Given the description of an element on the screen output the (x, y) to click on. 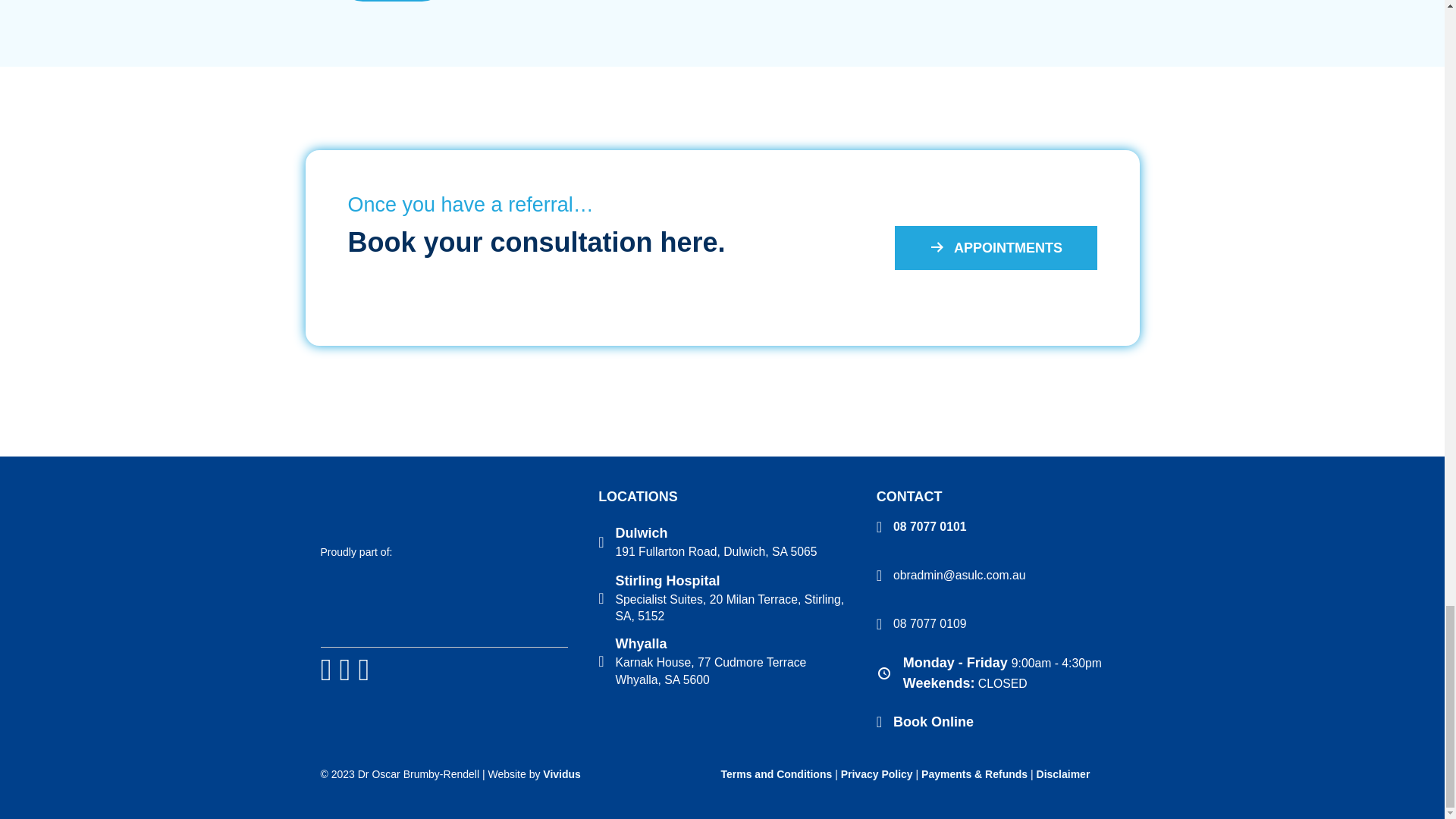
ASULClogo (423, 606)
